Given the description of an element on the screen output the (x, y) to click on. 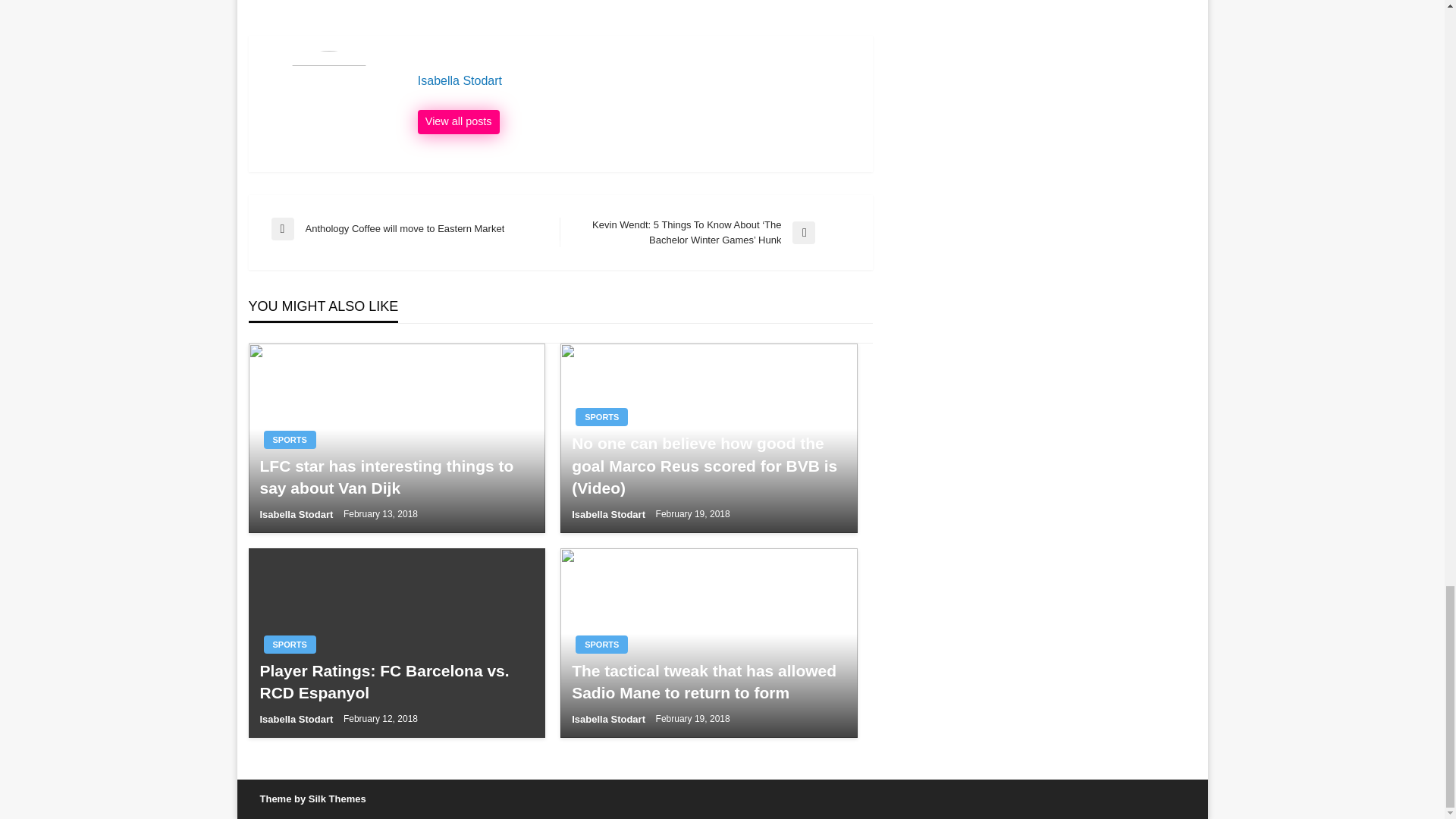
Isabella Stodart (458, 121)
Isabella Stodart (296, 718)
SPORTS (601, 644)
SPORTS (415, 228)
Isabella Stodart (289, 439)
SPORTS (637, 80)
Isabella Stodart (601, 416)
Isabella Stodart (637, 80)
Player Ratings: FC Barcelona vs. RCD Espanyol (609, 514)
Isabella Stodart (396, 682)
View all posts (609, 718)
LFC star has interesting things to say about Van Dijk (458, 121)
SPORTS (396, 477)
